Given the description of an element on the screen output the (x, y) to click on. 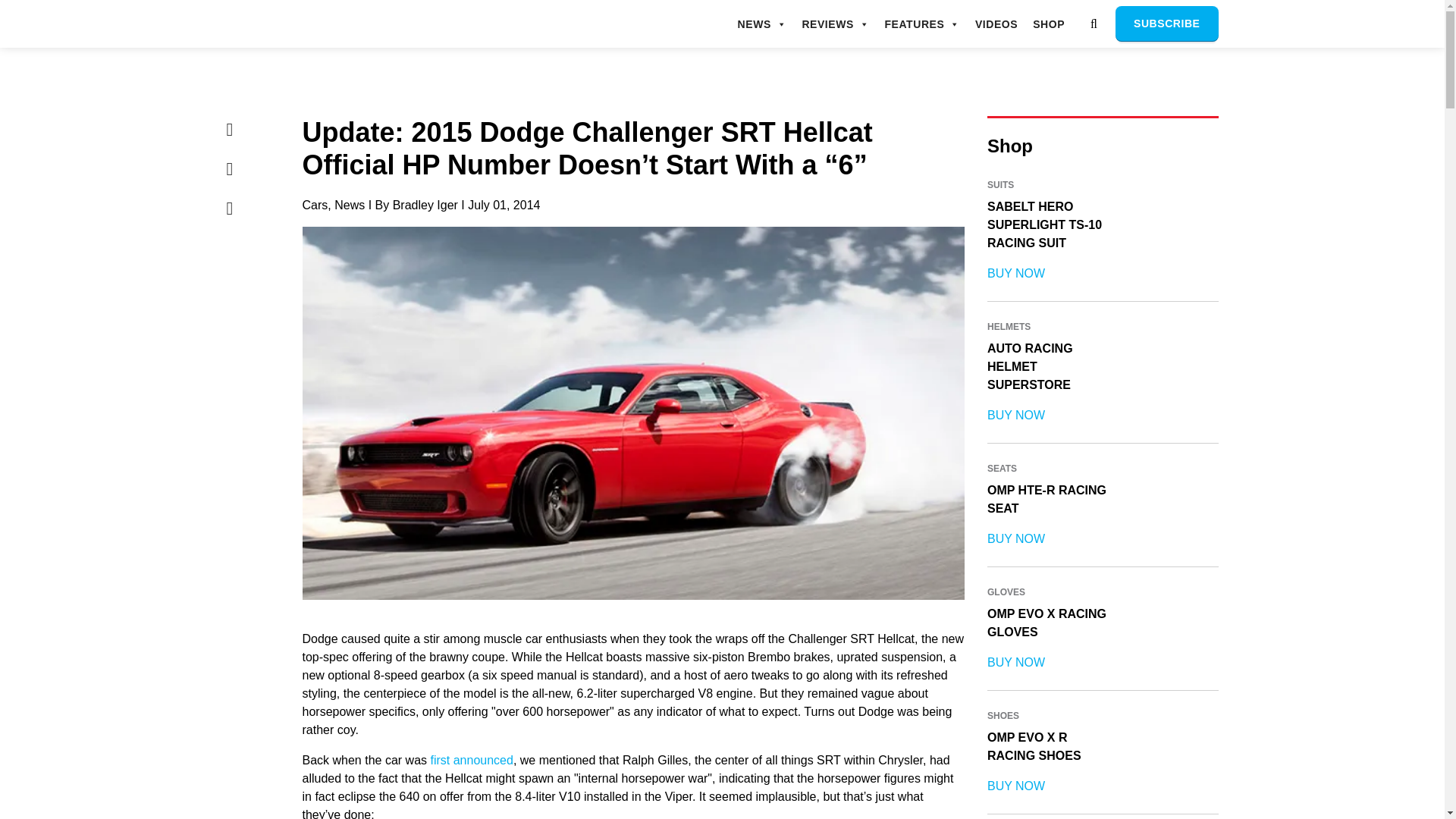
FEATURES (921, 24)
BUY NOW (1016, 273)
SUBSCRIBE (1166, 23)
SHOP (1048, 24)
SABELT HERO SUPERLIGHT TS-10 RACING SUIT (1044, 224)
REVIEWS (835, 24)
NEWS (762, 24)
Cars (314, 205)
News (349, 205)
first announced (470, 759)
VIDEOS (996, 24)
